Given the description of an element on the screen output the (x, y) to click on. 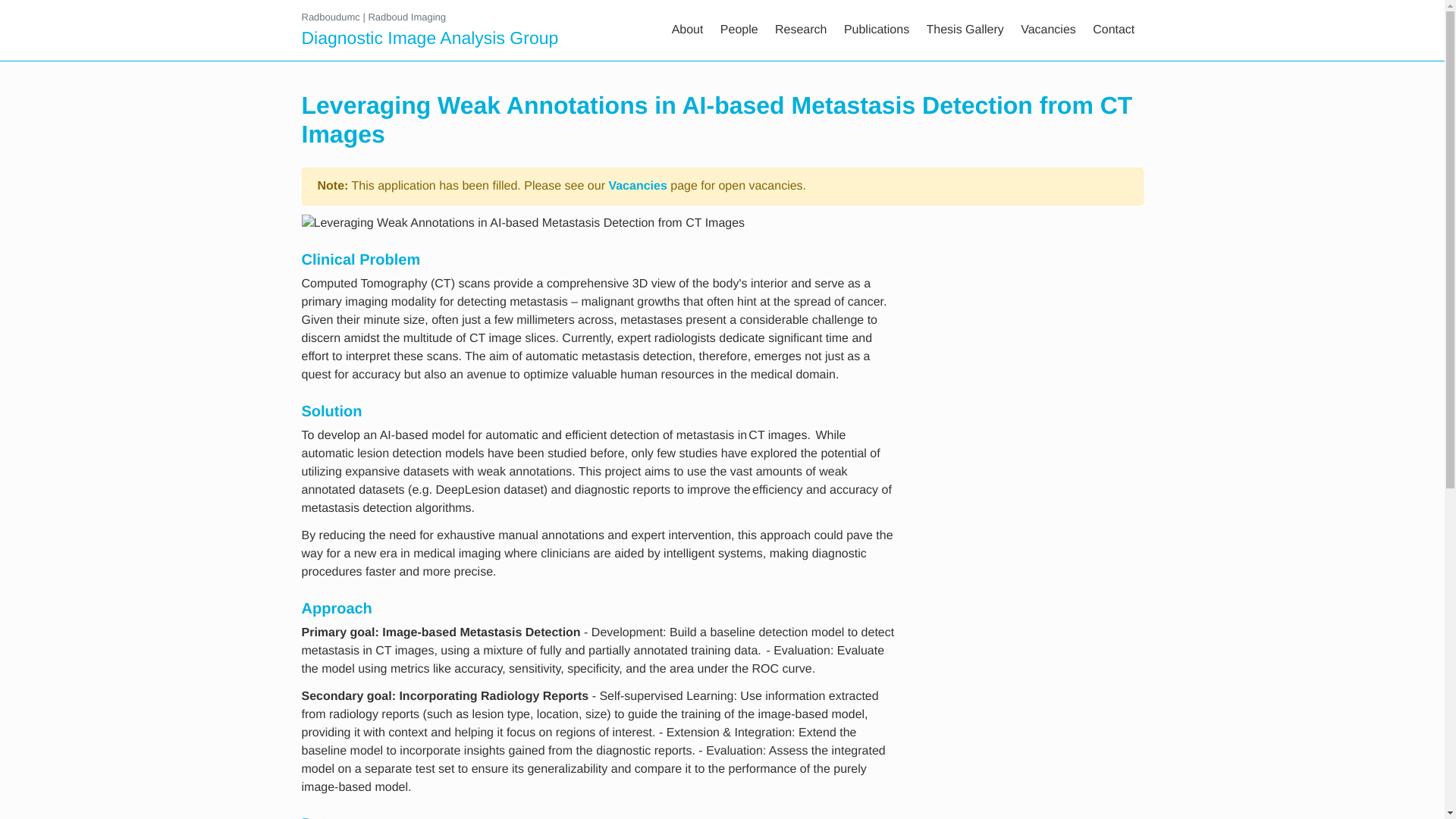
Diagnostic Image Analysis Group (430, 38)
Vacancies (1047, 30)
Radboudumc (330, 16)
Contact (1113, 30)
People (739, 30)
Radboud Imaging (406, 16)
Thesis Gallery (964, 30)
Vacancies (637, 185)
About (686, 30)
Research (801, 30)
